Given the description of an element on the screen output the (x, y) to click on. 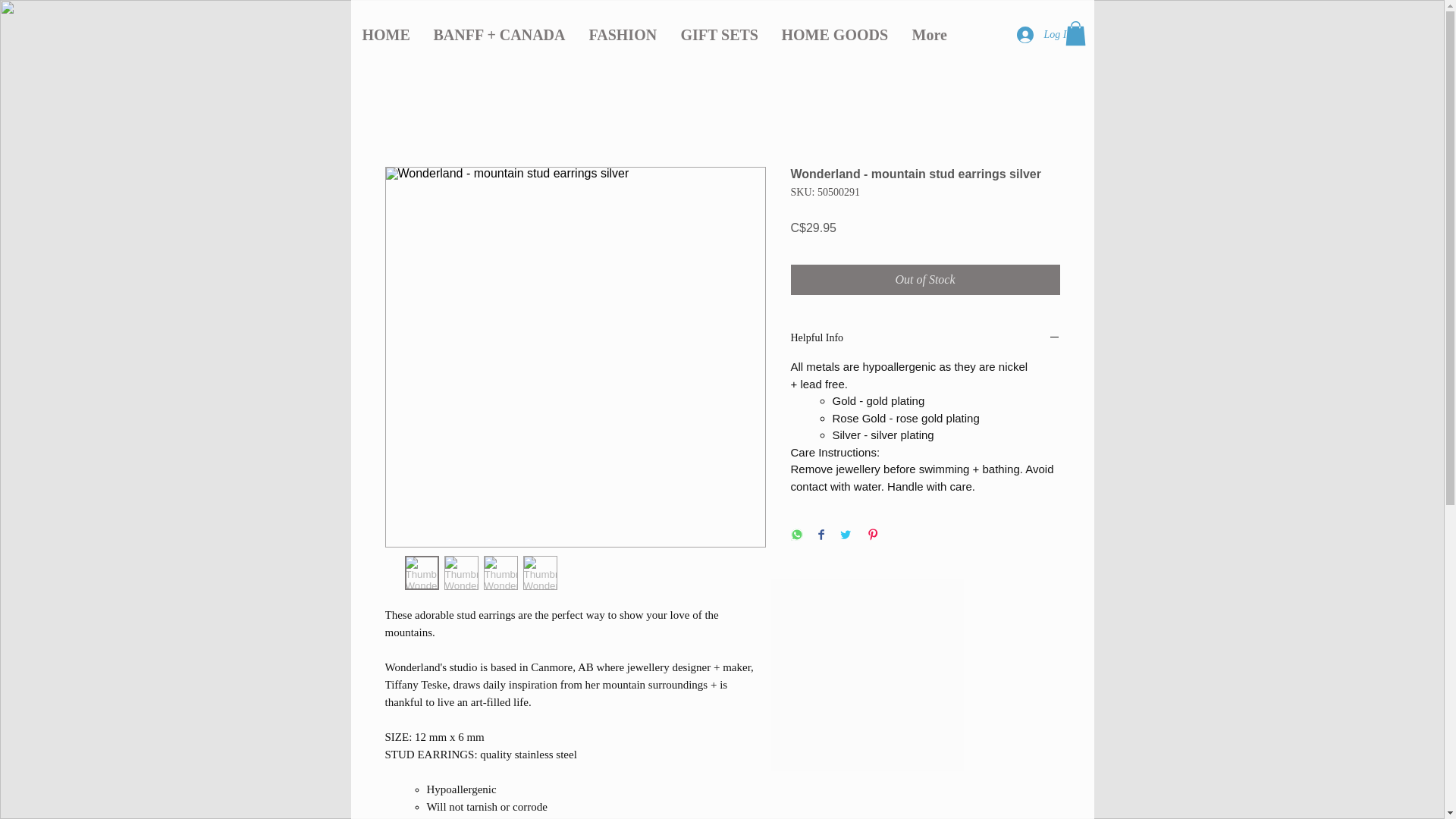
Log In (1035, 34)
HOME (385, 34)
Out of Stock (924, 279)
Helpful Info (924, 338)
GIFT SETS (719, 34)
FASHION (622, 34)
